Given the description of an element on the screen output the (x, y) to click on. 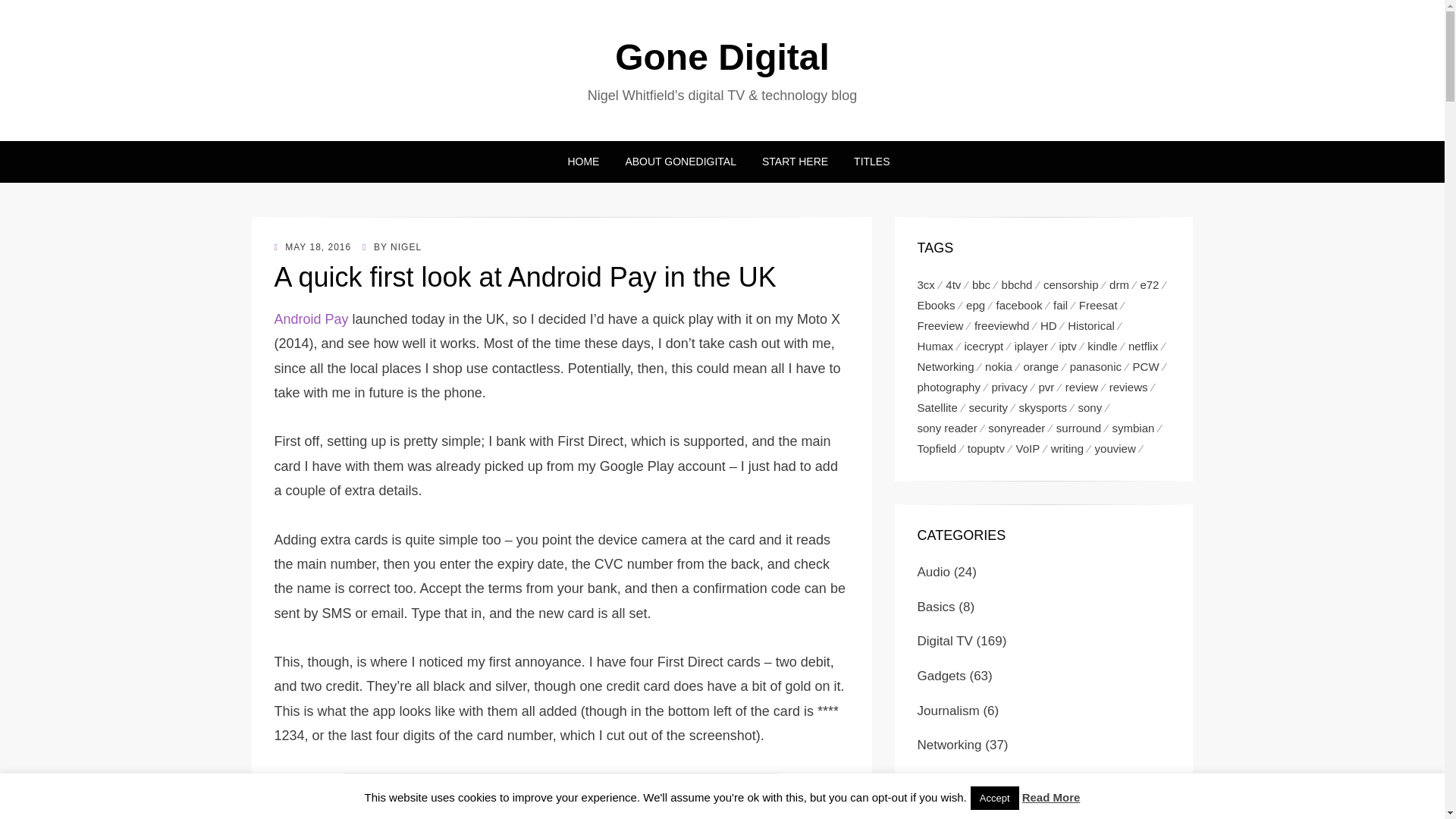
START HERE (795, 161)
bbc (986, 284)
Posts related to my late twin brother, Patrick Whitfield (936, 780)
3cx (931, 284)
Gone Digital (721, 56)
A few posts about the business of journalism (948, 710)
4tv (958, 284)
HOME (582, 161)
NIGEL (406, 246)
Android Pay (312, 319)
Gone Digital (721, 56)
MAY 18, 2016 (313, 246)
ABOUT GONEDIGITAL (680, 161)
TITLES (865, 161)
